Given the description of an element on the screen output the (x, y) to click on. 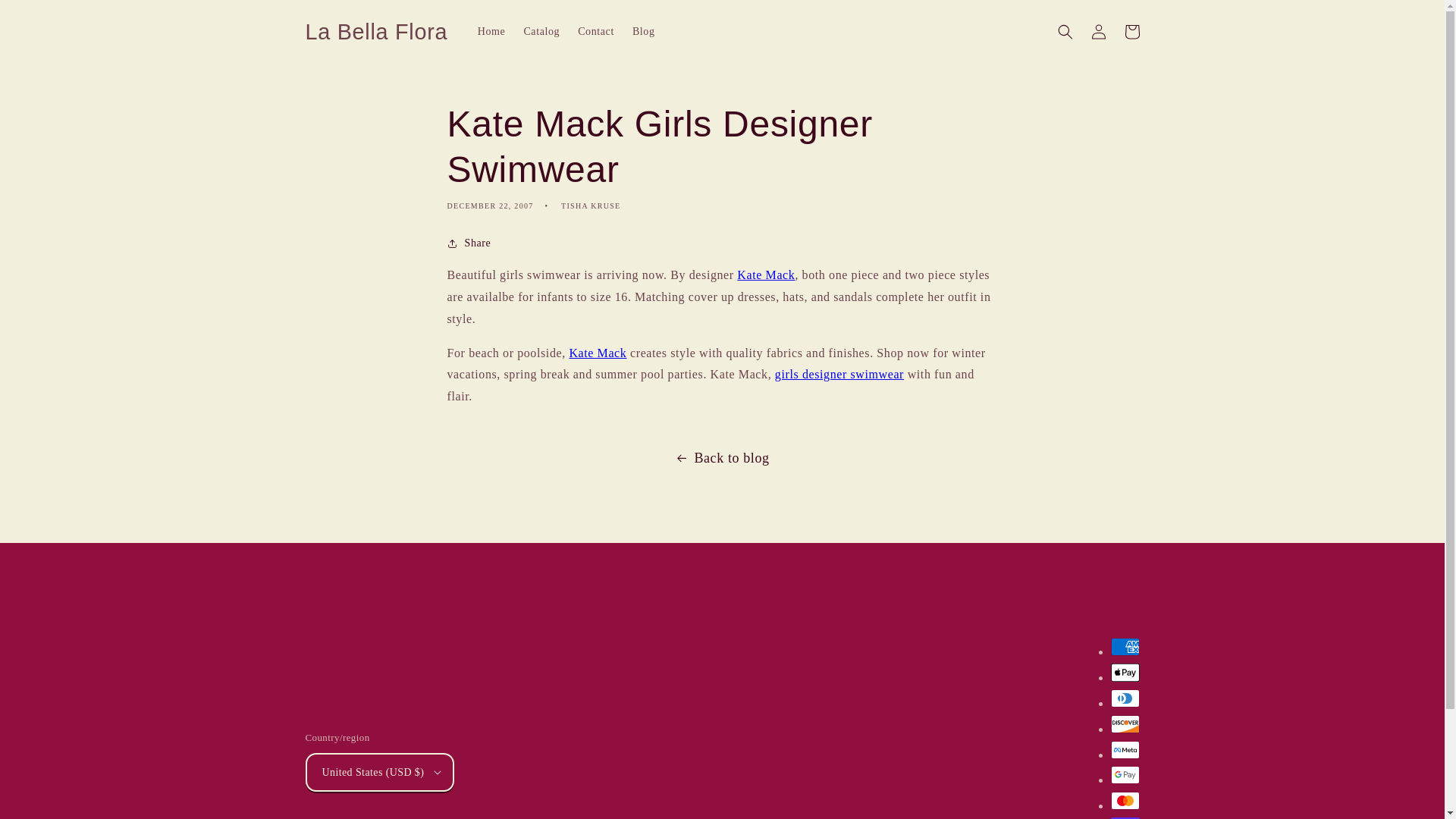
Discover (1123, 723)
Meta Pay (1123, 750)
Kate Mack (597, 352)
Log in (1098, 31)
Home (491, 31)
Blog (643, 31)
Catalog (541, 31)
Contact (596, 31)
La Bella Flora (375, 31)
Cart (1131, 31)
Apple Pay (1123, 672)
Skip to content (46, 18)
American Express (1123, 647)
girls designer swimwear (839, 373)
Diners Club (1123, 698)
